Given the description of an element on the screen output the (x, y) to click on. 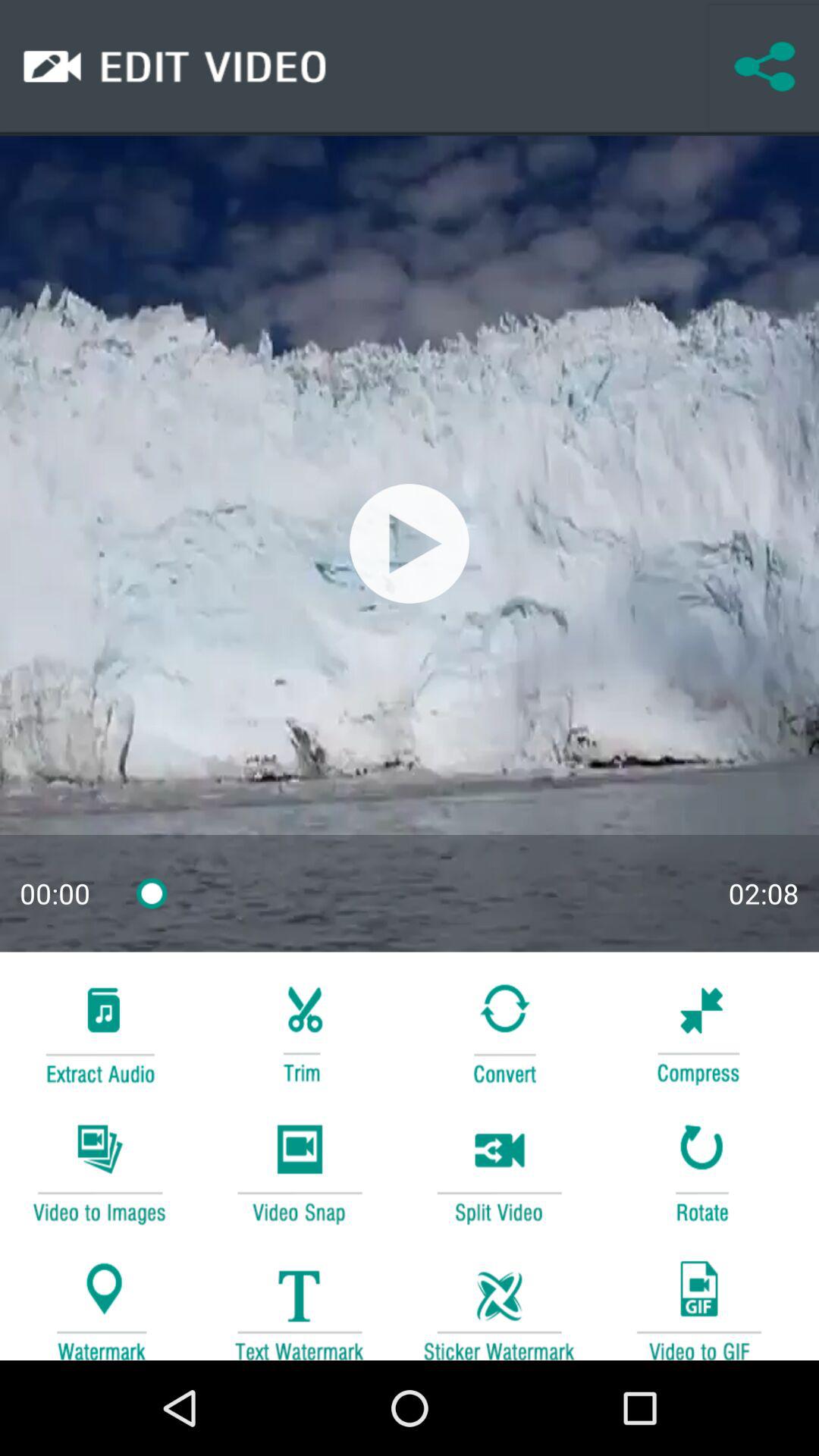
text watermark box (299, 1303)
